Given the description of an element on the screen output the (x, y) to click on. 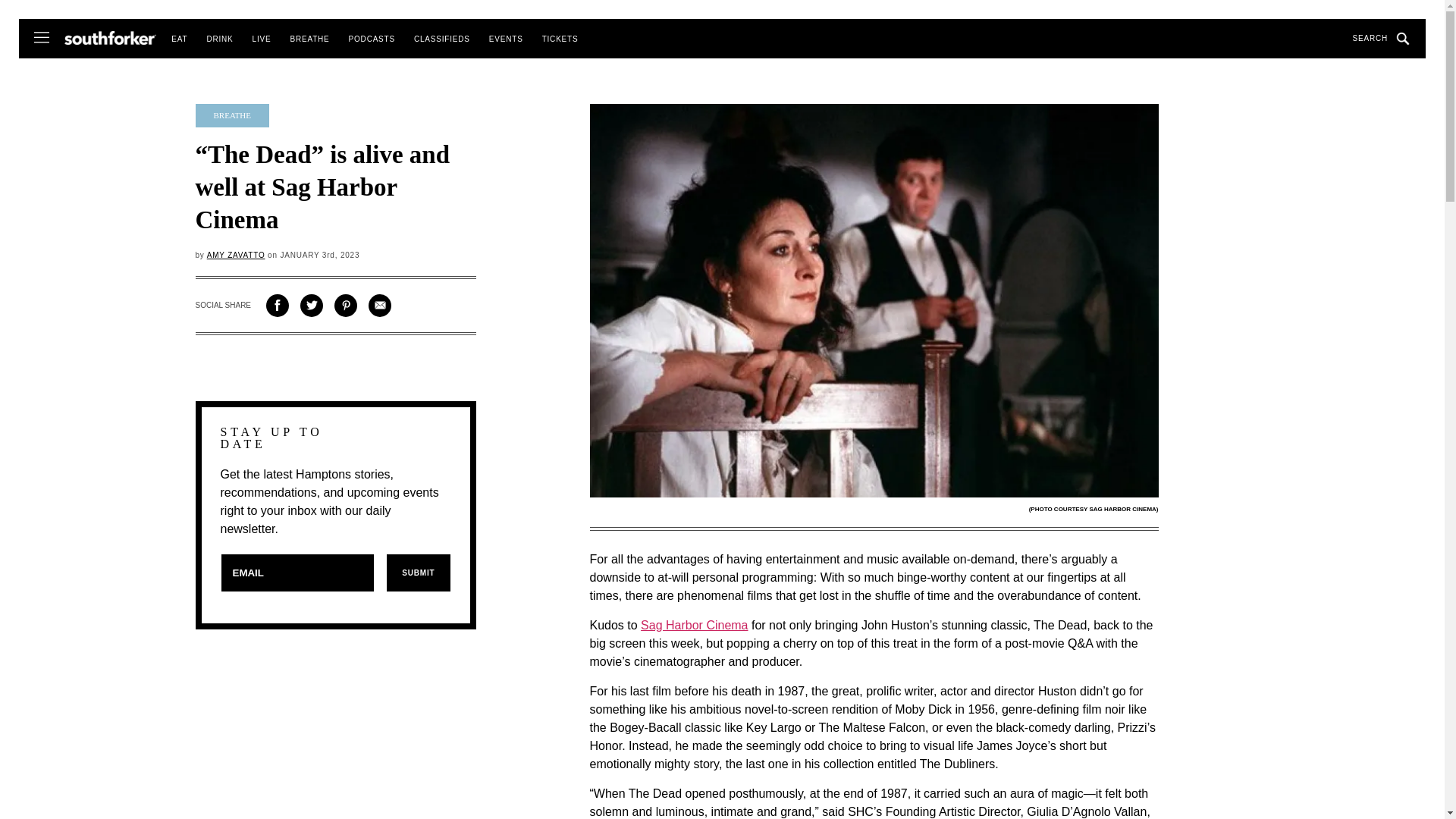
Submit (417, 572)
CLASSIFIEDS (441, 39)
EVENTS (505, 39)
BREATHE (309, 39)
LIVE (260, 39)
PODCASTS (371, 39)
Share via email. (379, 305)
Tweet this! (311, 305)
DRINK (219, 39)
Share on Facebook. (277, 305)
